Given the description of an element on the screen output the (x, y) to click on. 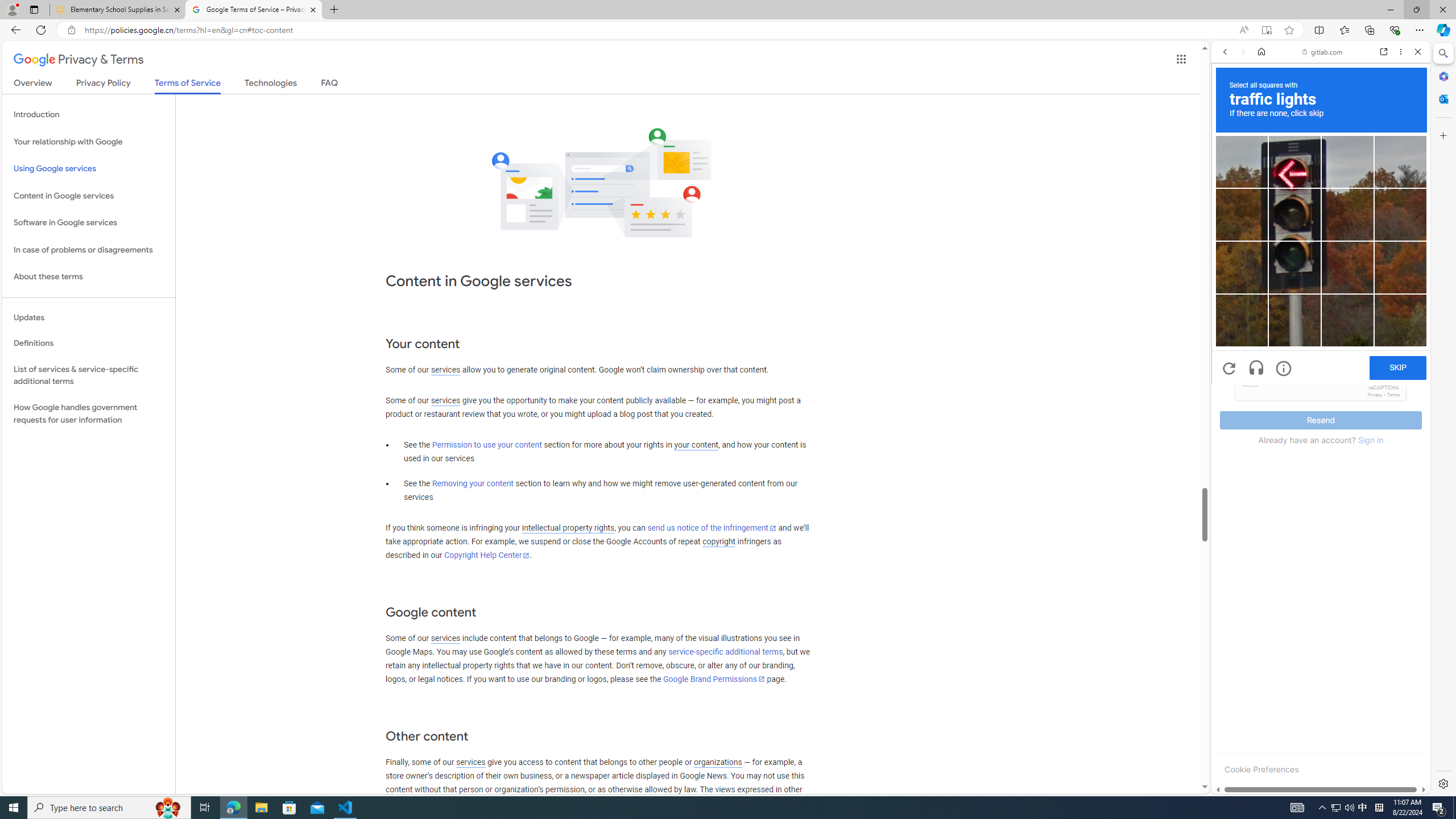
Search Filter, ALL (1228, 129)
I'm not a robot (1249, 378)
Terms (1393, 394)
Resend (1321, 420)
Register Now (1320, 253)
Image challenge (1294, 267)
Dashboard (1320, 365)
